Given the description of an element on the screen output the (x, y) to click on. 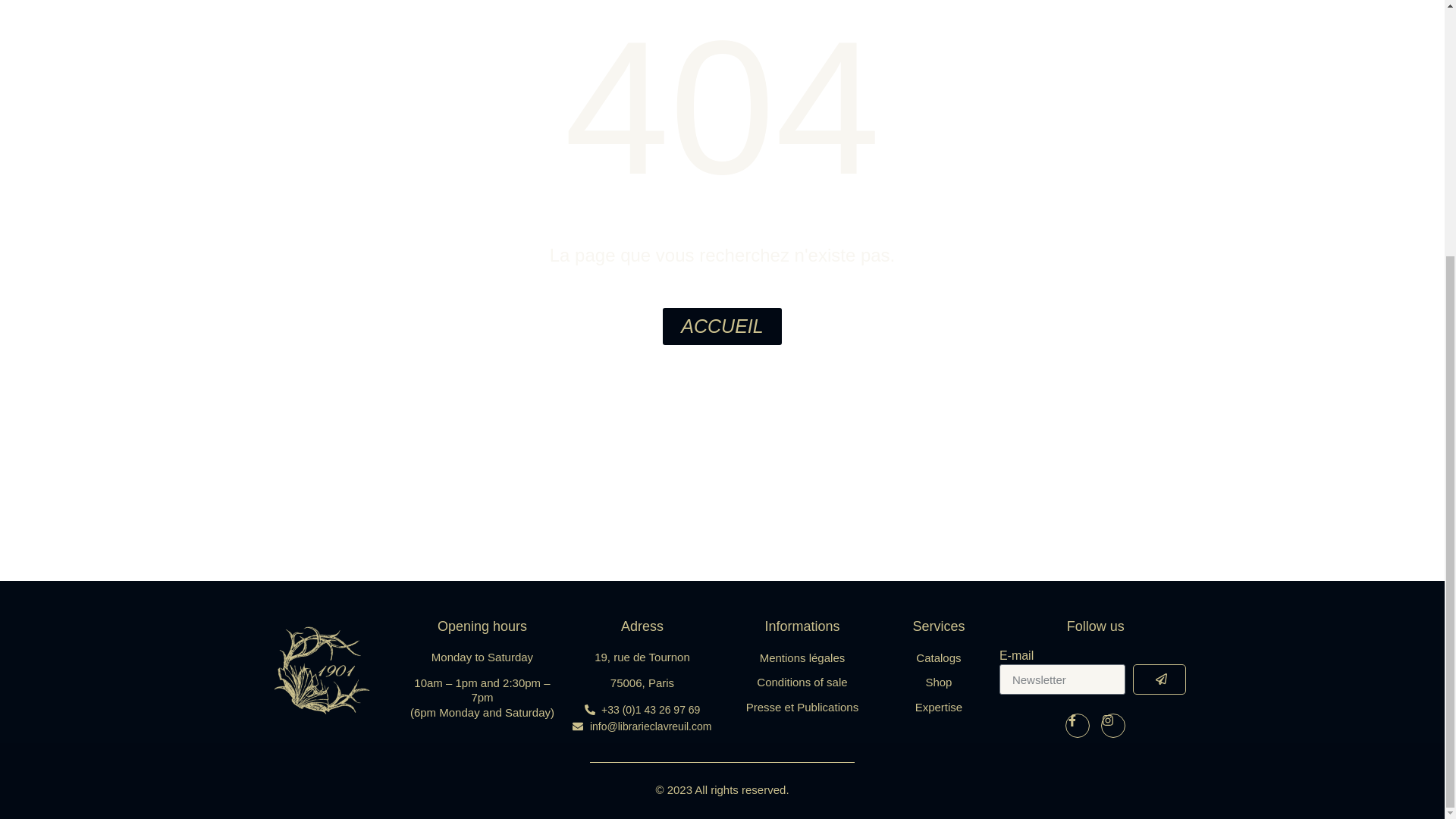
Conditions of sale (801, 682)
Catalogs (938, 658)
Presse et Publications (801, 707)
Expertise (938, 707)
ACCUEIL (721, 325)
Shop (938, 682)
